Given the description of an element on the screen output the (x, y) to click on. 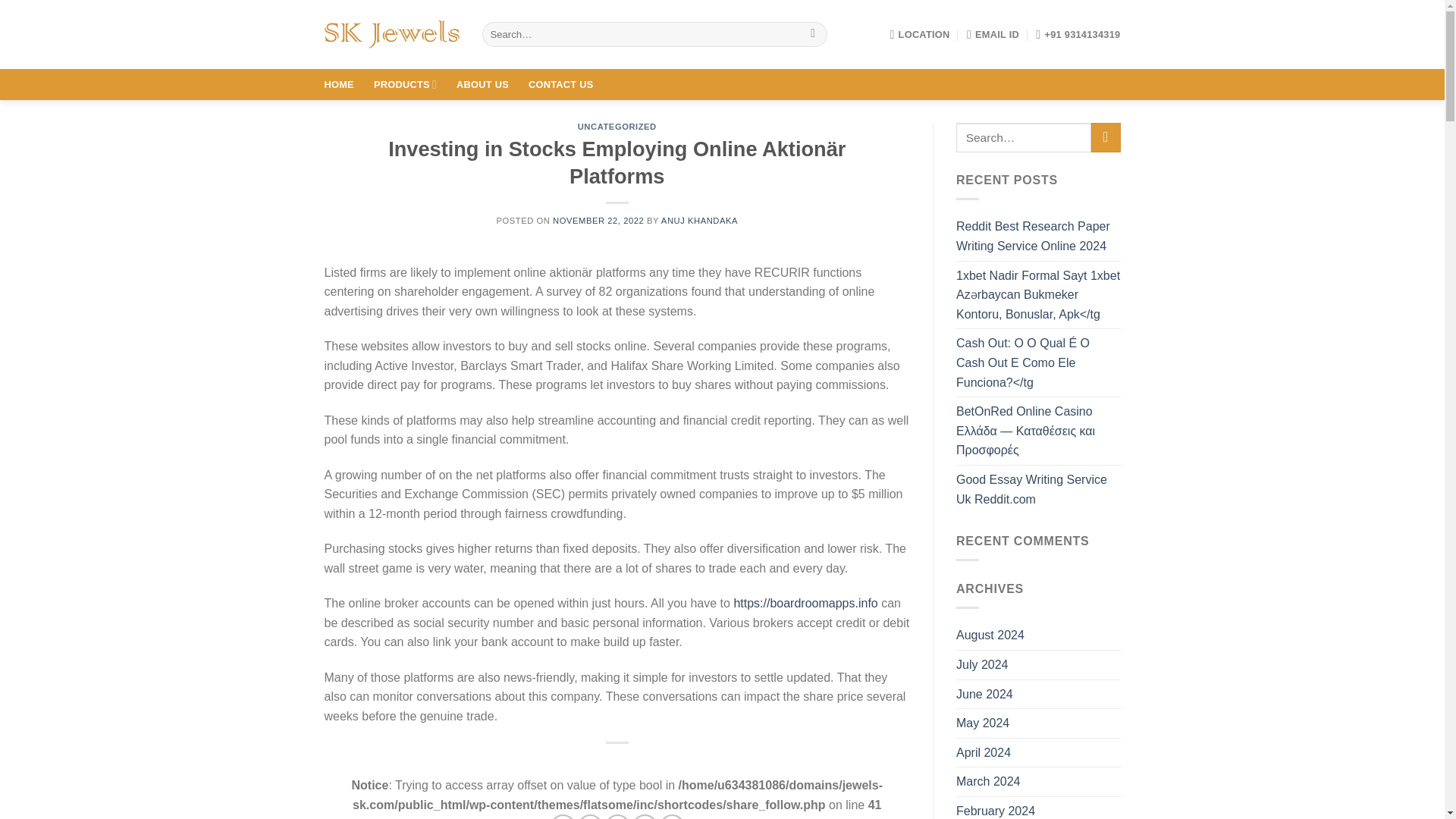
LOCATION (919, 34)
PRODUCTS (405, 83)
HOME (338, 83)
EMAIL ID (992, 34)
Search (812, 34)
